Given the description of an element on the screen output the (x, y) to click on. 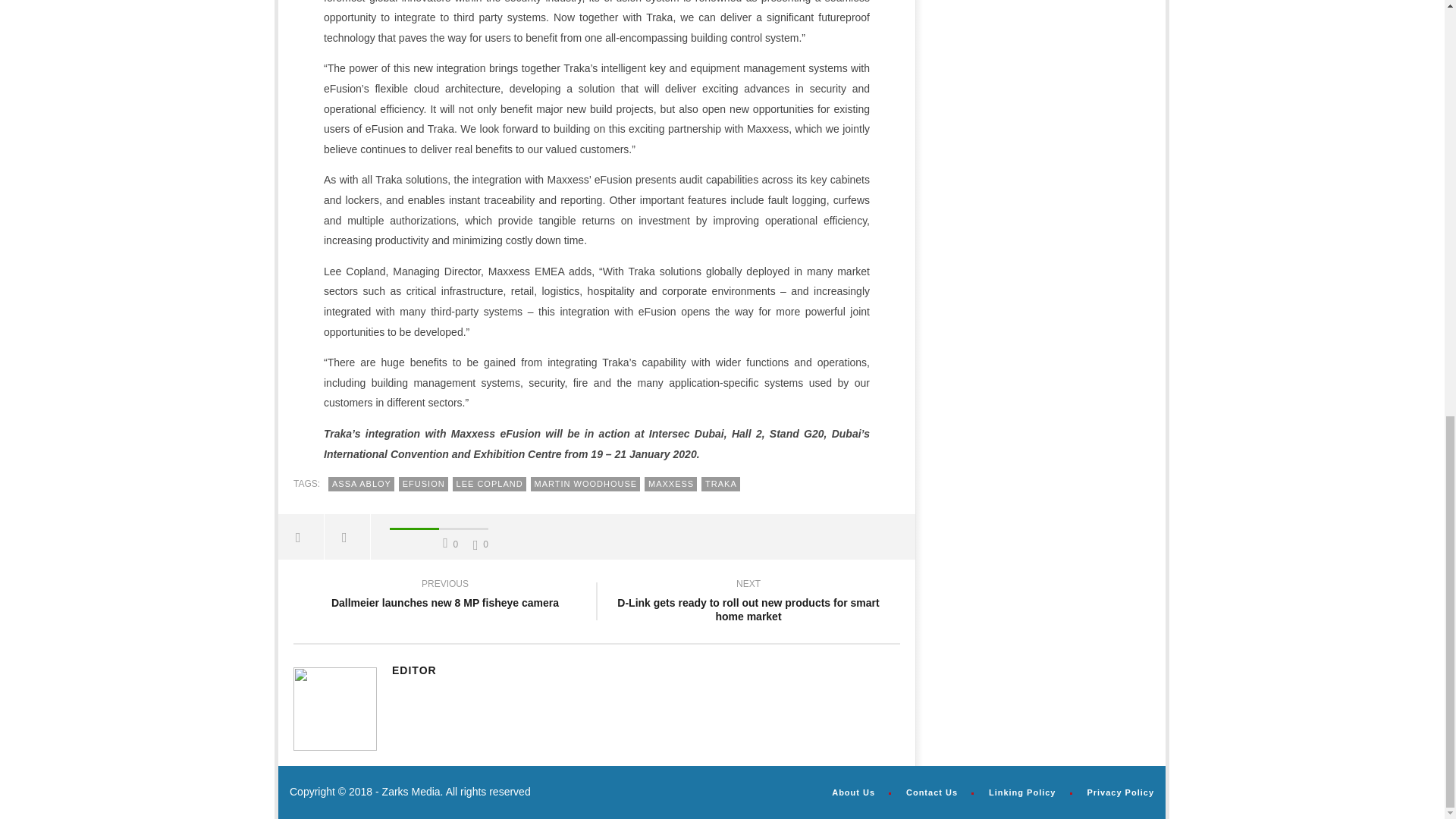
ASSA ABLOY (361, 483)
MAXXESS (671, 483)
MARTIN WOODHOUSE (585, 483)
LEE COPLAND (488, 483)
EFUSION (423, 483)
